Given the description of an element on the screen output the (x, y) to click on. 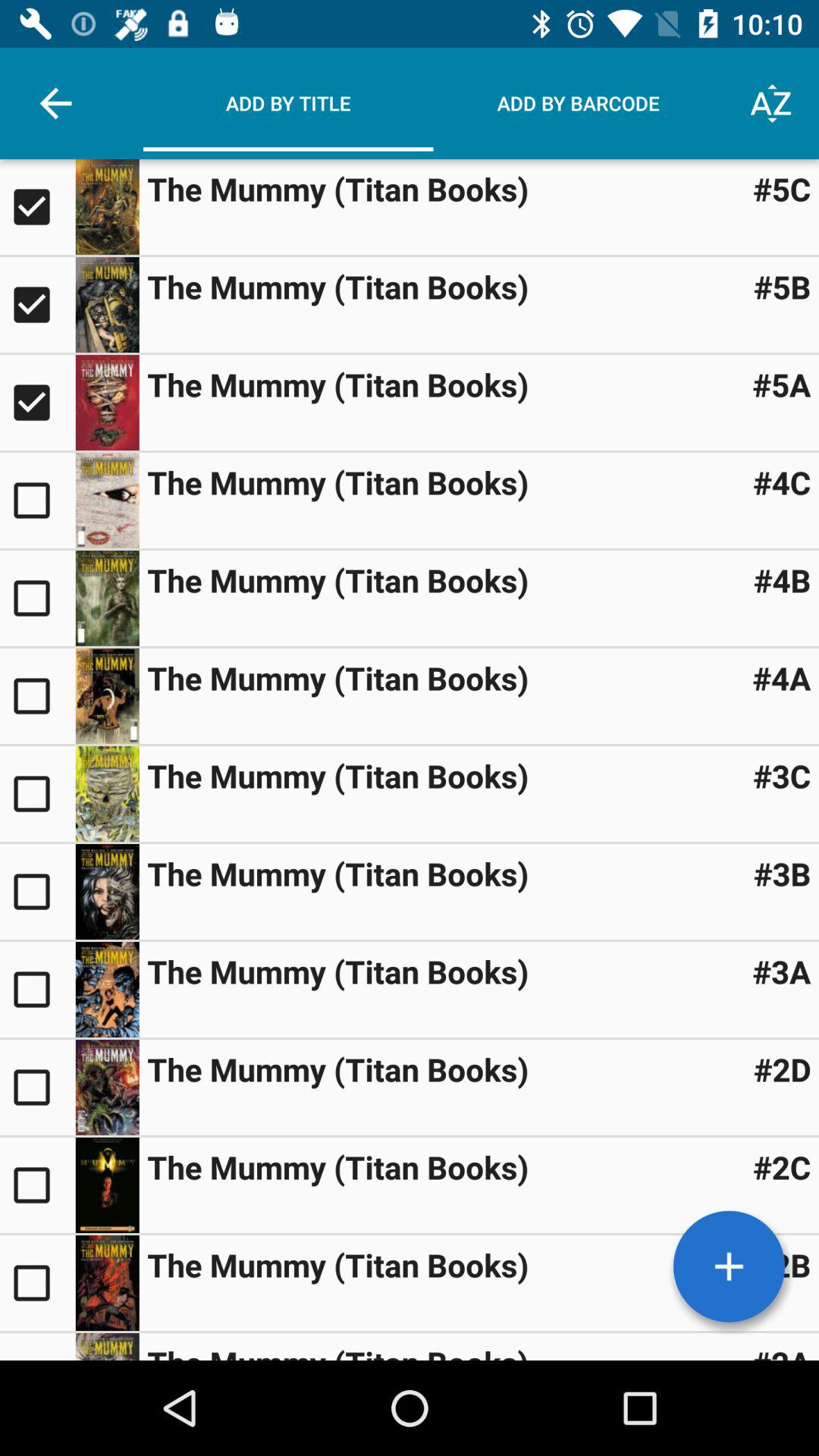
turn off icon above #3b (782, 775)
